Given the description of an element on the screen output the (x, y) to click on. 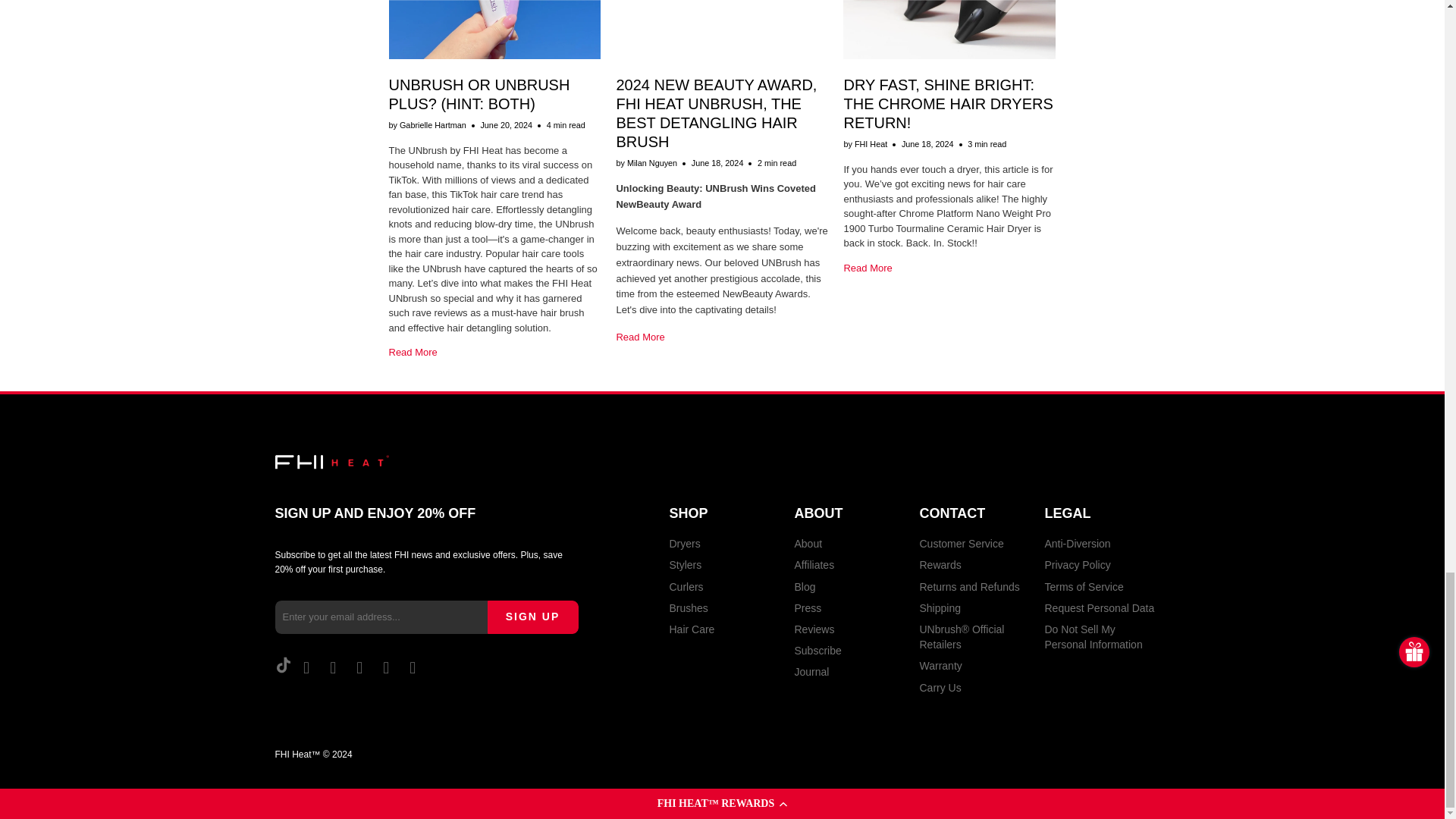
Sign Up (532, 616)
